Given the description of an element on the screen output the (x, y) to click on. 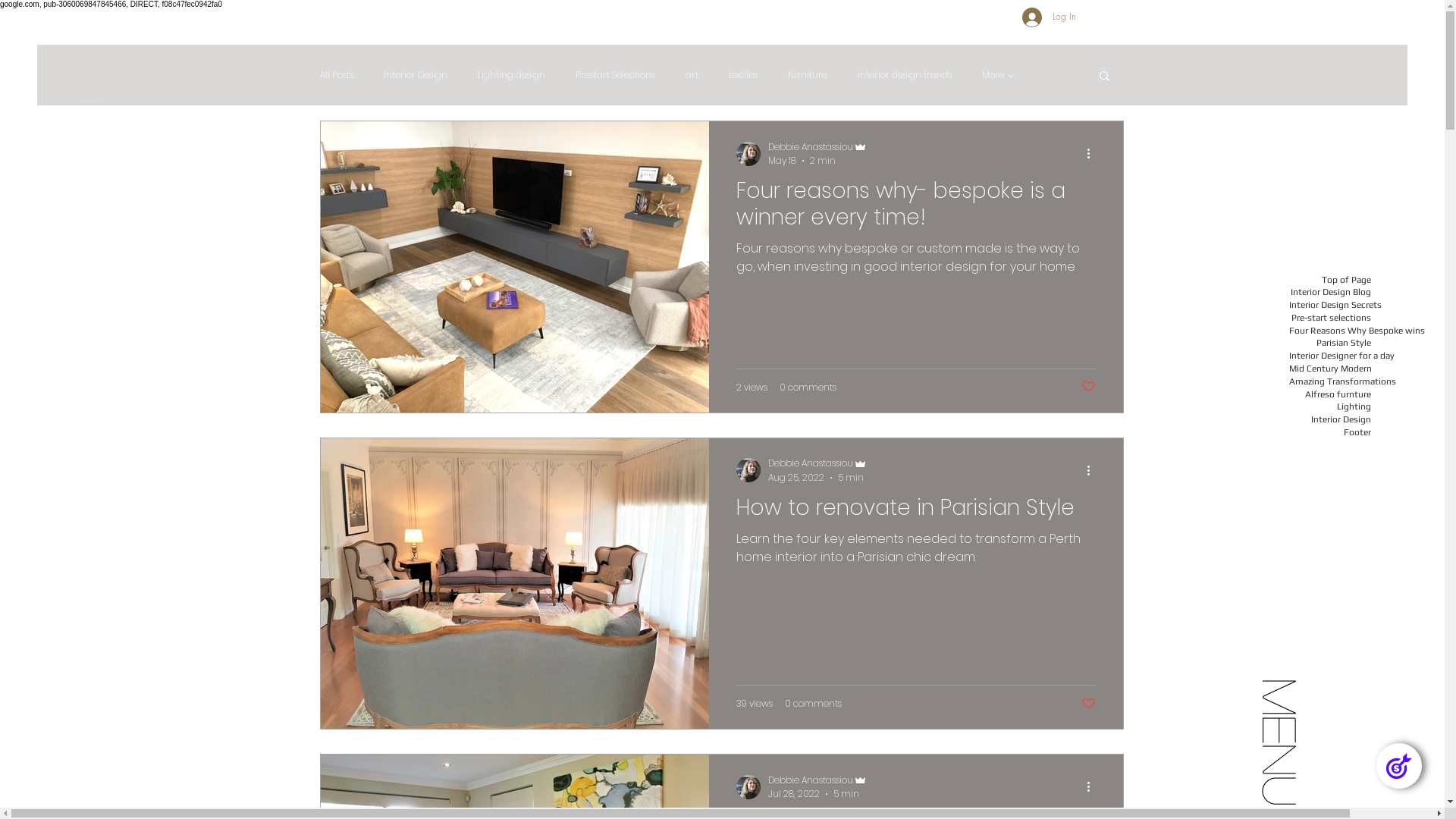
interior design trends Element type: text (904, 74)
0 comments Element type: text (807, 387)
Post not marked as liked Element type: text (1088, 387)
Mid Century Modern Element type: text (1330, 368)
Parisian Style Element type: text (1330, 342)
Prestart Selections Element type: text (615, 74)
Interior Design Element type: text (1330, 419)
Four reasons why- bespoke is a winner every time! Element type: text (915, 207)
Interior Design Secrets Element type: text (1330, 304)
Debbie Anastassiou Element type: text (817, 779)
All Posts Element type: text (336, 74)
Footer Element type: text (1330, 432)
art Element type: text (691, 74)
0 comments Element type: text (812, 703)
Interior Design Element type: text (415, 74)
Alfreso furnture Element type: text (1330, 394)
MENU Element type: text (1318, 702)
Four Reasons Why Bespoke wins Element type: text (1330, 330)
Debbie Anastassiou Element type: text (817, 146)
Lighting design Element type: text (511, 74)
Amazing Transformations Element type: text (1330, 381)
How to renovate in Parisian Style Element type: text (915, 510)
furniture Element type: text (807, 74)
Post not marked as liked Element type: text (1088, 704)
Interior Designer for a day Element type: text (1330, 355)
Lighting Element type: text (1330, 406)
Pre-start selections Element type: text (1330, 317)
Debbie Anastassiou Element type: text (817, 463)
Log In Element type: text (1048, 17)
Interior Design Blog Element type: text (1330, 291)
Top of Page Element type: text (1330, 279)
textiles Element type: text (742, 74)
